Given the description of an element on the screen output the (x, y) to click on. 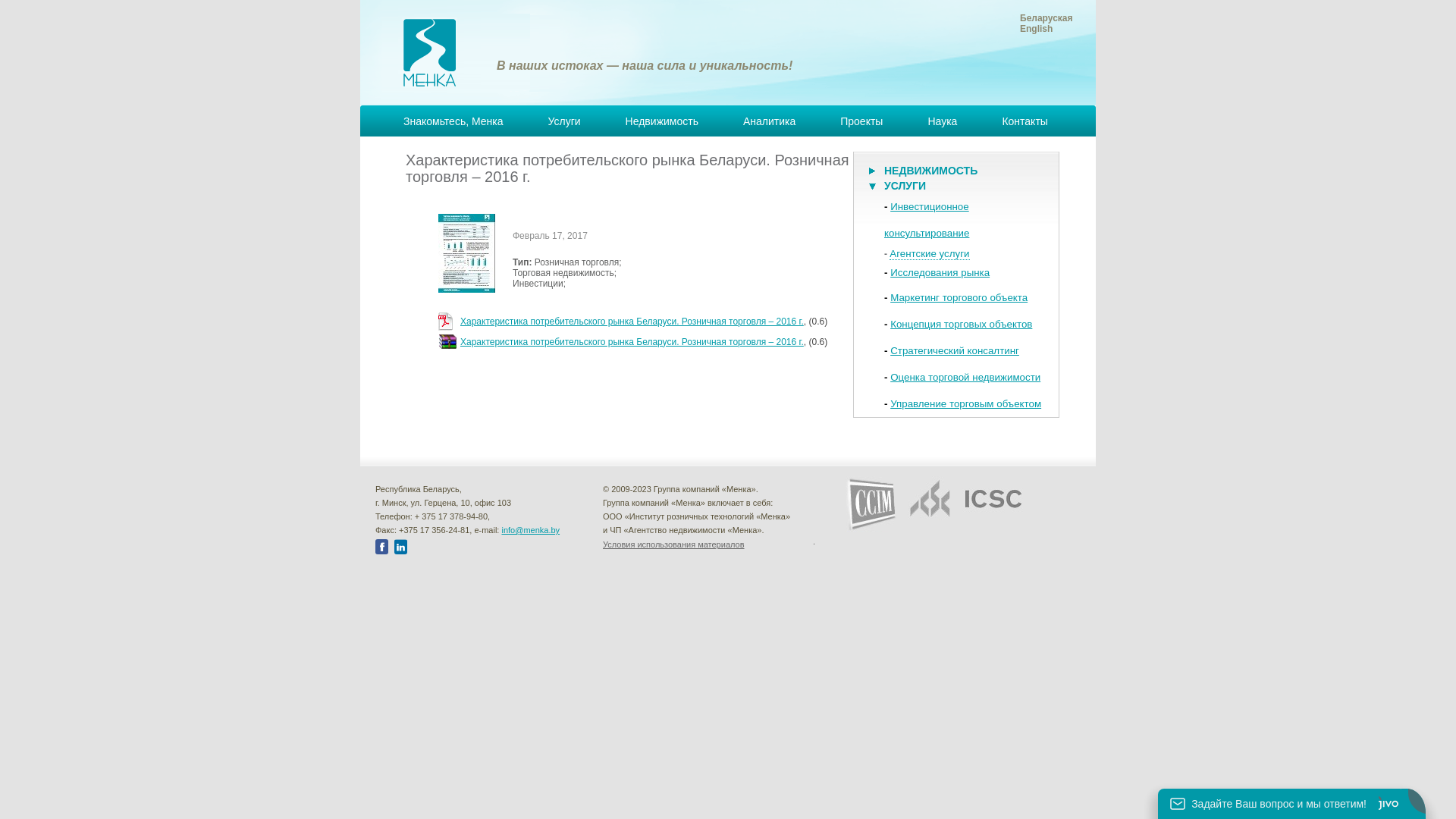
info@menka.by Element type: text (530, 529)
. Element type: text (813, 541)
English Element type: text (1035, 28)
